Given the description of an element on the screen output the (x, y) to click on. 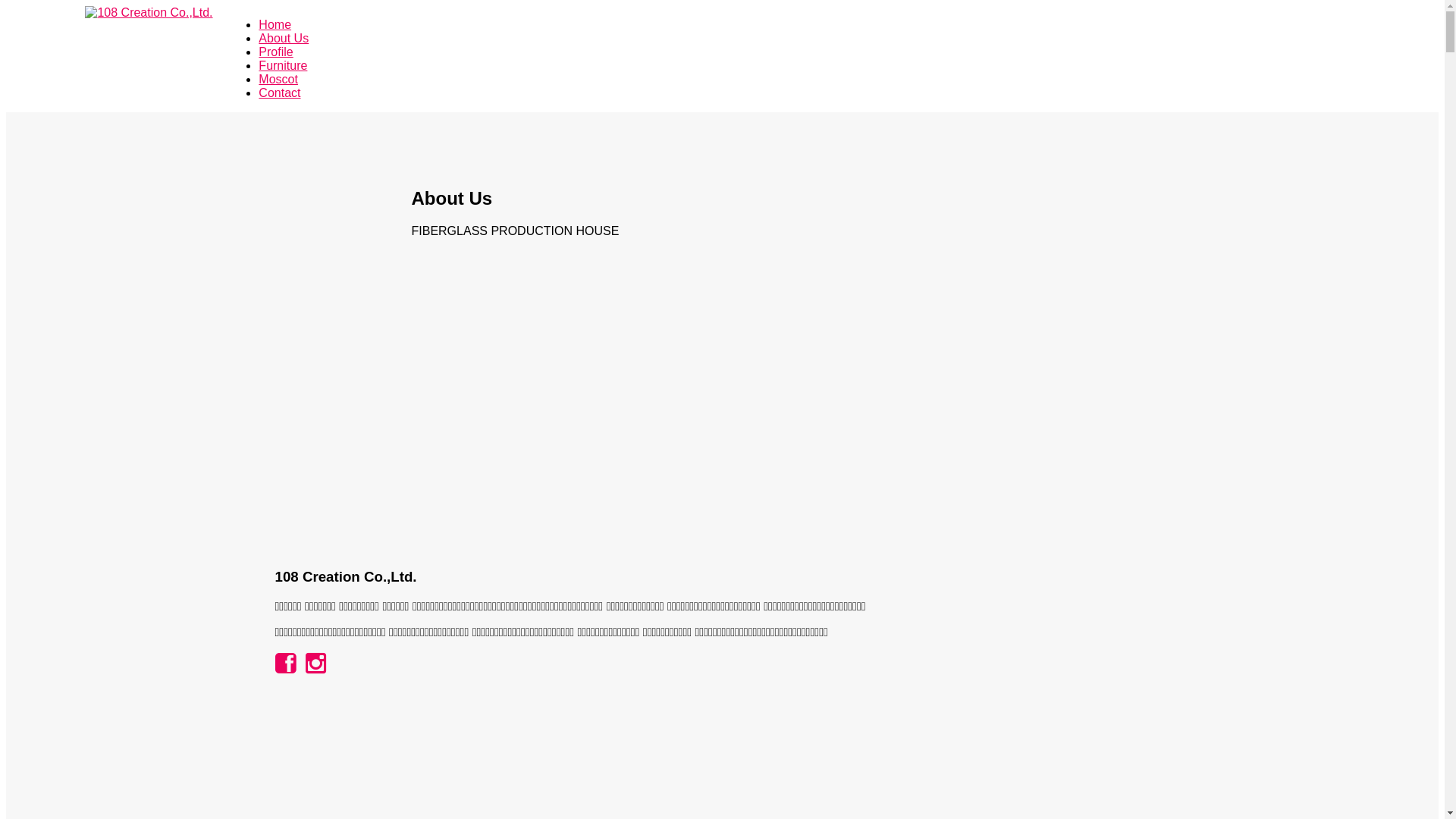
108 Creation Co.,Ltd. Element type: hover (148, 12)
Furniture Element type: text (282, 65)
Profile Element type: text (275, 51)
About Us Element type: text (283, 37)
Home Element type: text (274, 24)
Contact Element type: text (279, 92)
Moscot Element type: text (278, 78)
